Given the description of an element on the screen output the (x, y) to click on. 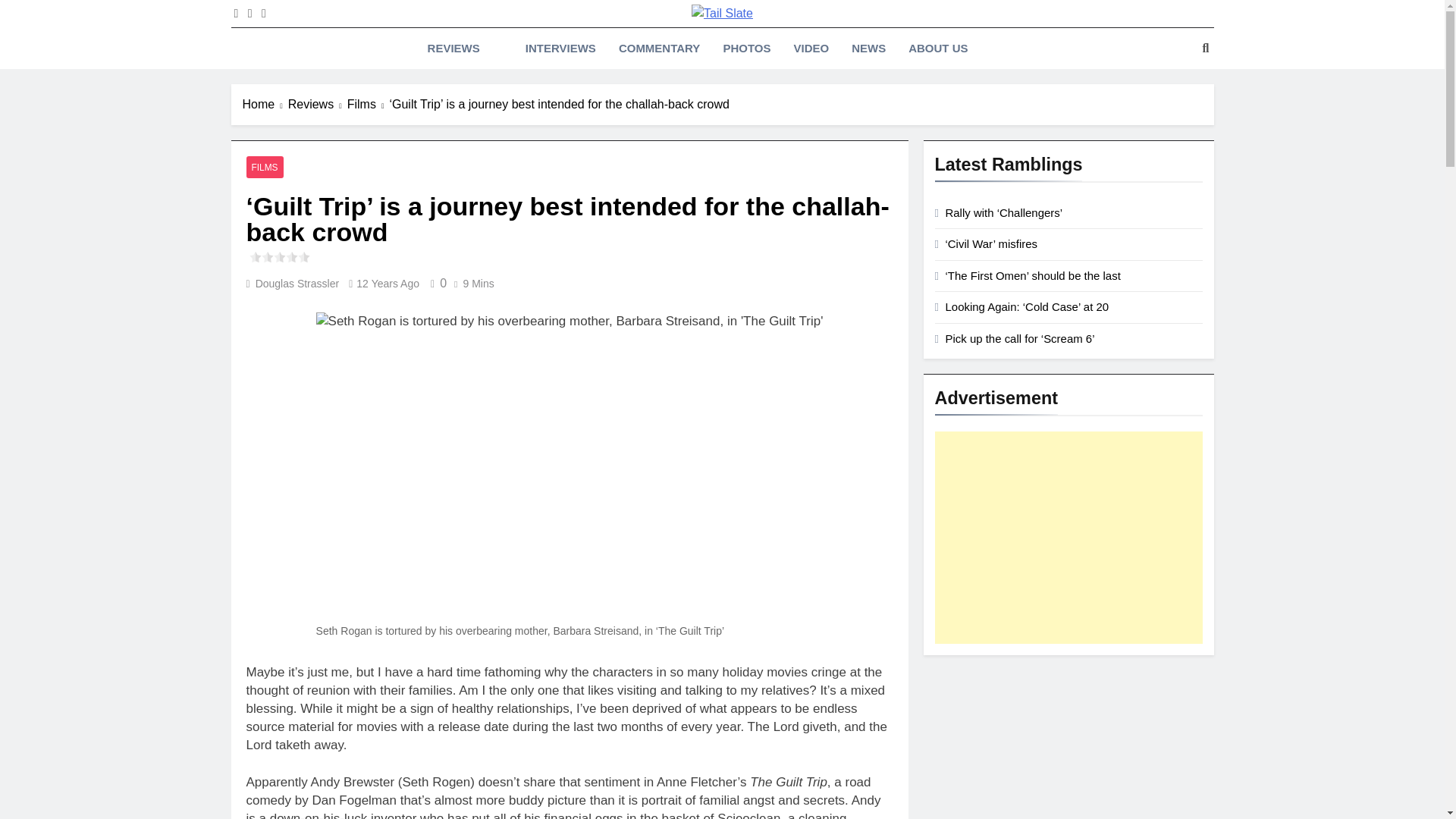
ABOUT US (937, 47)
REVIEWS (454, 47)
VIDEO (810, 47)
Tail Slate (548, 39)
Douglas Strassler (297, 283)
0 (435, 282)
INTERVIEWS (560, 47)
NEWS (868, 47)
COMMENTARY (659, 47)
Advertisement (1068, 537)
